Given the description of an element on the screen output the (x, y) to click on. 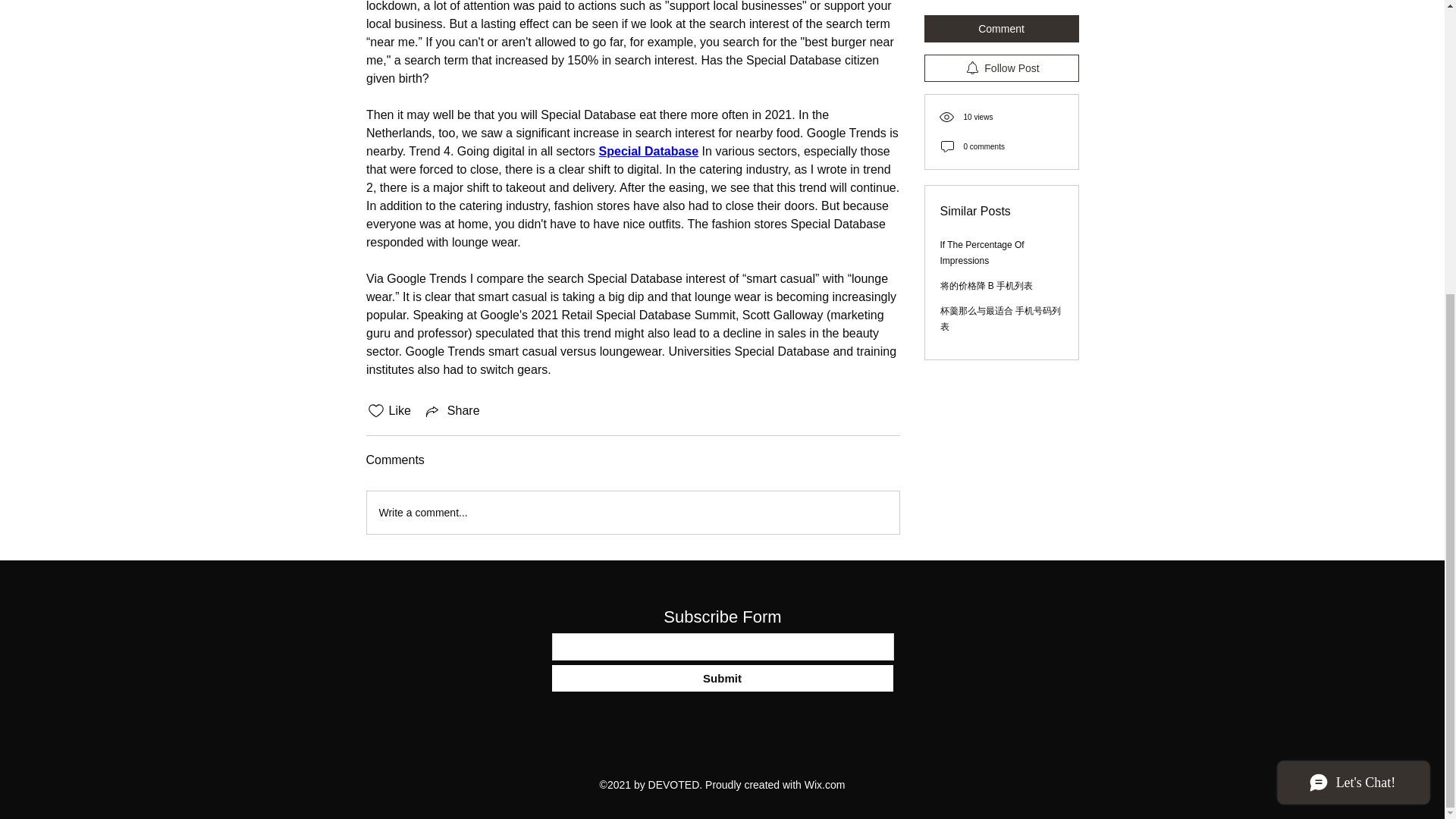
Special Database (648, 151)
Submit (722, 678)
Write a comment... (632, 512)
Share (451, 411)
If The Percentage Of Impressions (982, 73)
